Given the description of an element on the screen output the (x, y) to click on. 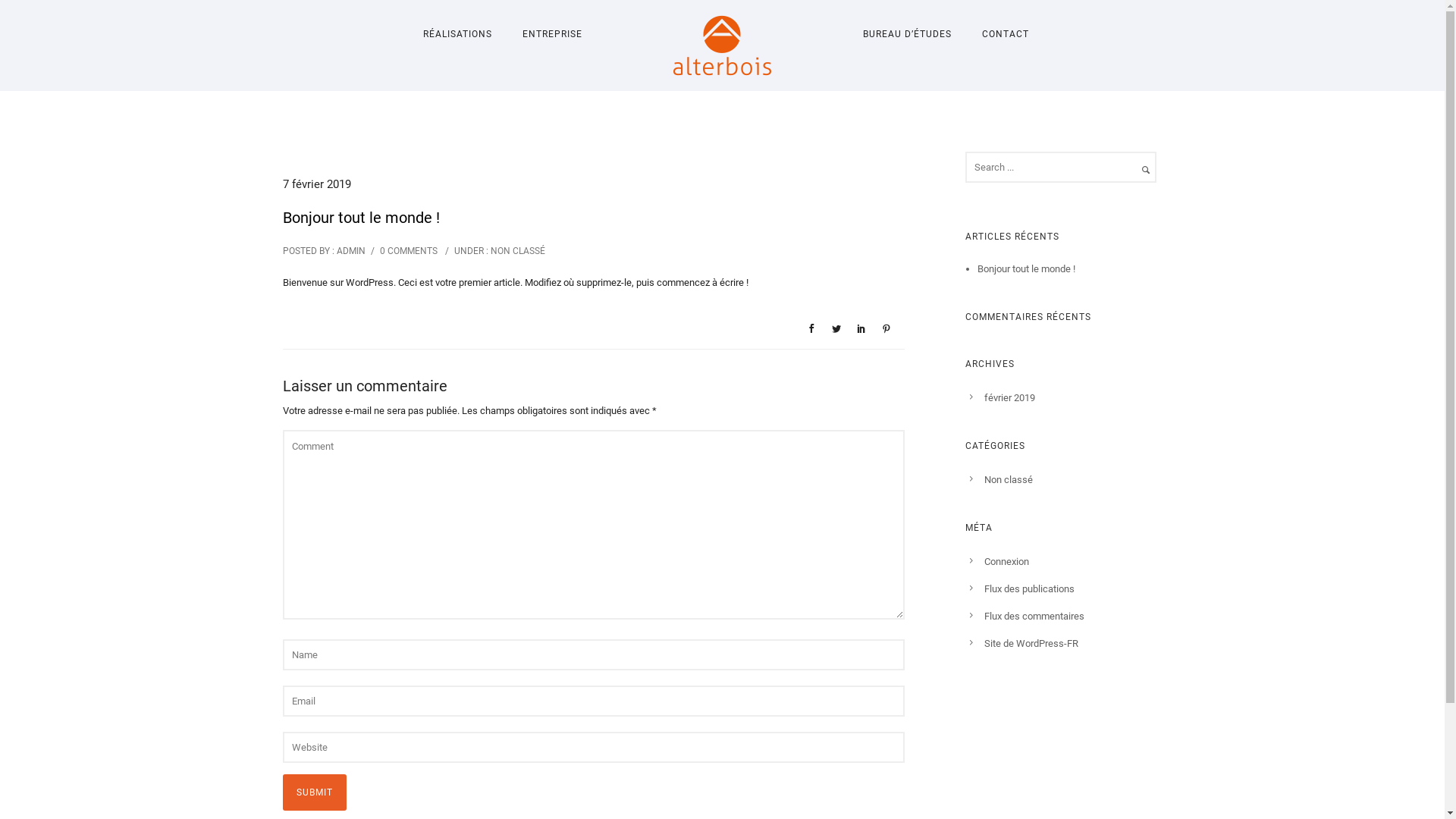
Site de WordPress-FR Element type: text (1031, 643)
Flux des commentaires Element type: text (1034, 615)
0 COMMENTS Element type: text (407, 250)
ENTREPRISE Element type: text (551, 33)
Flux des publications Element type: text (1029, 588)
Bonjour tout le monde ! Element type: text (1026, 268)
CONTACT Element type: text (1004, 33)
Submit Element type: text (313, 792)
Connexion Element type: text (1006, 561)
